Given the description of an element on the screen output the (x, y) to click on. 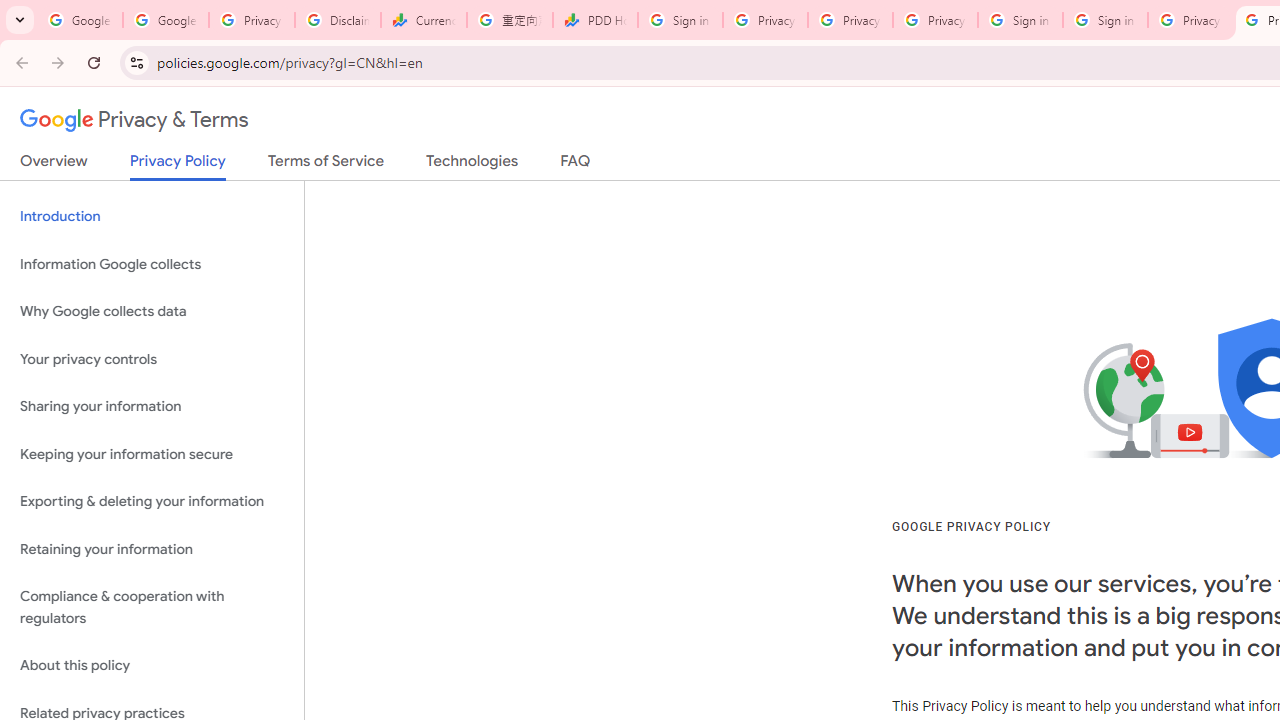
Sign in - Google Accounts (1020, 20)
Privacy Checkup (850, 20)
Sign in - Google Accounts (680, 20)
